Given the description of an element on the screen output the (x, y) to click on. 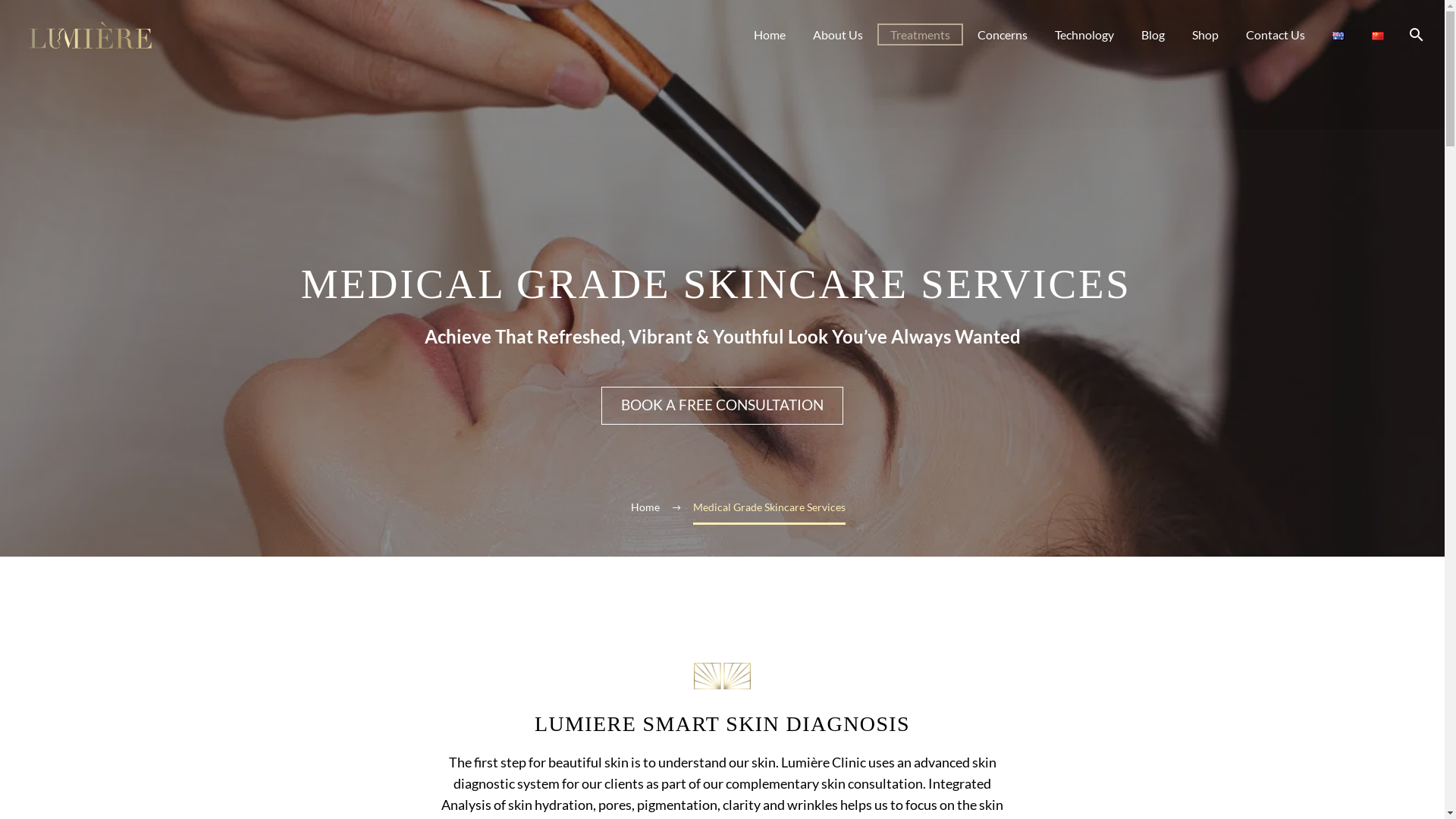
LME-element-double Element type: hover (721, 675)
Contact Us Element type: text (1275, 34)
Home Element type: text (769, 34)
Treatments Element type: text (920, 34)
BOOK A FREE CONSULTATION Element type: text (722, 405)
Home Element type: text (644, 506)
About Us Element type: text (837, 34)
Concerns Element type: text (1002, 34)
Technology Element type: text (1084, 34)
Blog Element type: text (1152, 34)
Shop Element type: text (1205, 34)
